Given the description of an element on the screen output the (x, y) to click on. 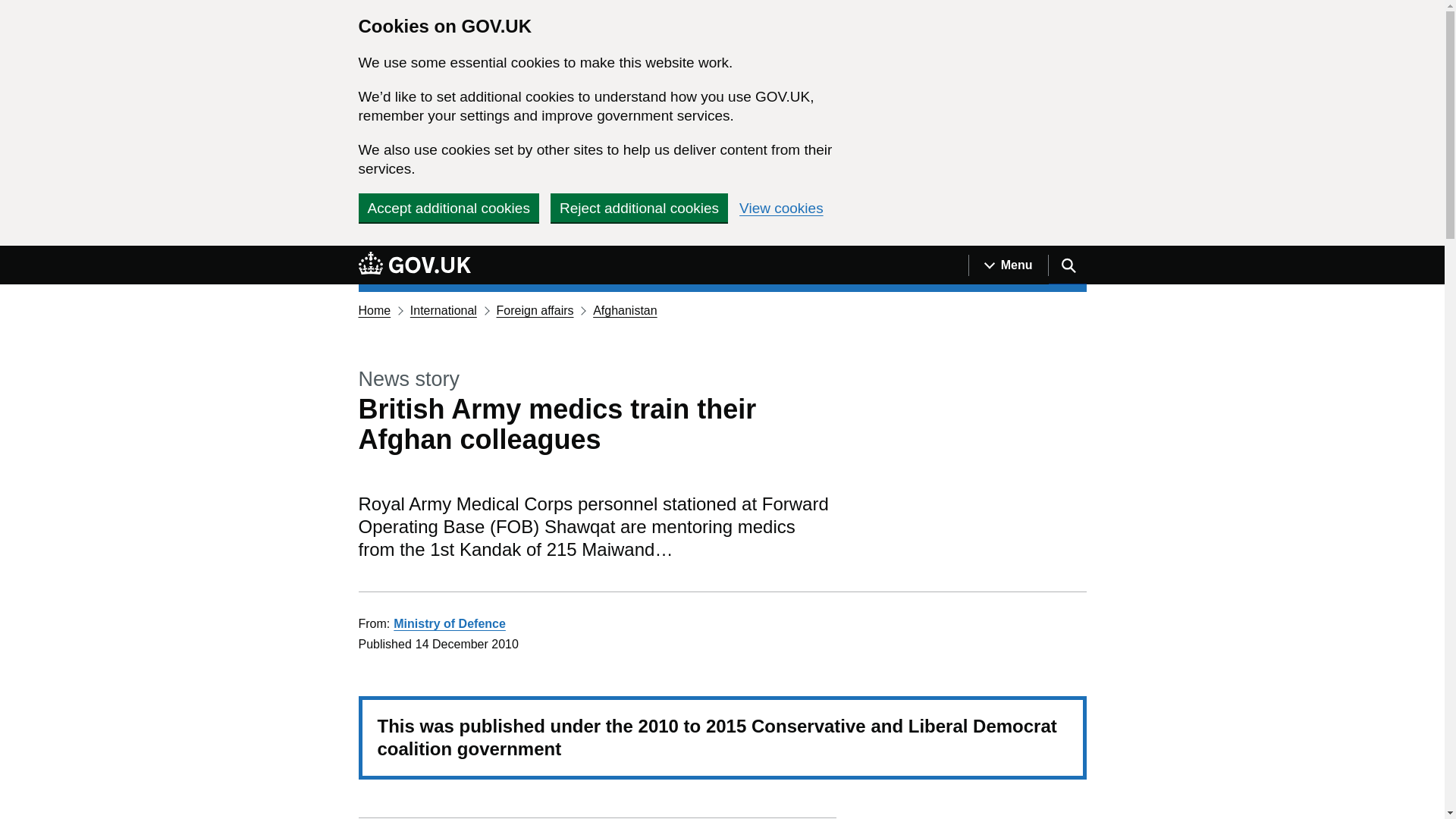
Ministry of Defence (449, 623)
Menu (1008, 265)
Accept additional cookies (448, 207)
Search GOV.UK (1067, 265)
GOV.UK (414, 262)
Afghanistan (625, 309)
International (443, 309)
Reject additional cookies (639, 207)
GOV.UK (414, 264)
View cookies (781, 207)
